Given the description of an element on the screen output the (x, y) to click on. 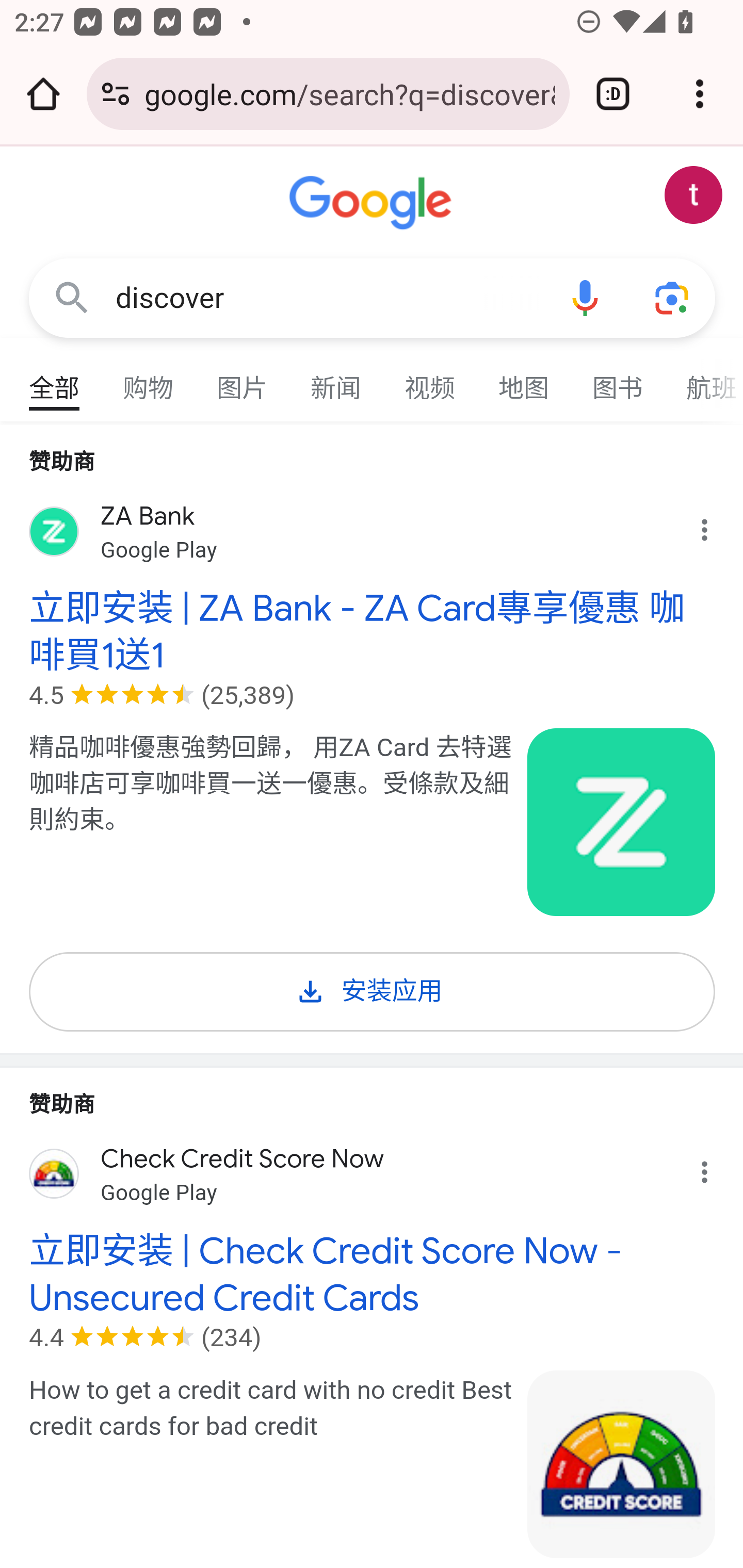
Open the home page (43, 93)
Connection is secure (115, 93)
Switch or close tabs (612, 93)
Customize and control Google Chrome (699, 93)
Google (372, 203)
Google 账号： test appium (testappium002@gmail.com) (694, 195)
Google 搜索 (71, 296)
使用拍照功能或照片进行搜索 (672, 296)
discover (328, 297)
购物 (148, 378)
图片 (242, 378)
新闻 (336, 378)
视频 (430, 378)
地图 (524, 378)
图书 (618, 378)
航班 (703, 378)
为什么会显示该广告？ (714, 525)
立即安装 | ZA Bank - ZA Card專享優惠 咖啡買1送1 (372, 631)
图片来自 google.com (621, 822)
安装应用 (372, 988)
为什么会显示该广告？ (714, 1166)
图片来自 google.com (621, 1465)
